Given the description of an element on the screen output the (x, y) to click on. 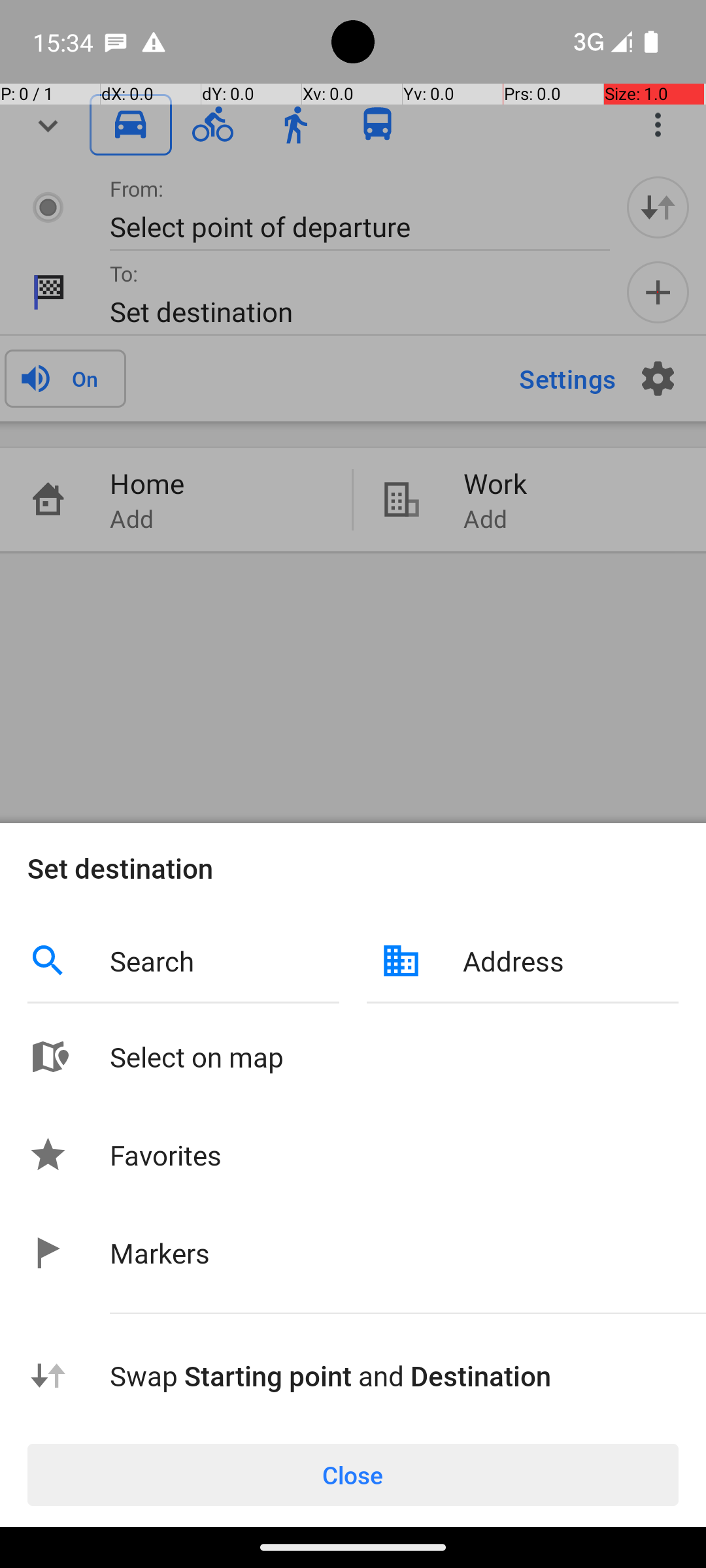
Close the dialog Element type: android.view.View (353, 440)
Set destination Element type: android.widget.TextView (353, 867)
Address Element type: android.widget.TextView (570, 960)
Select on map Element type: android.widget.TextView (393, 1056)
Swap Starting point and Destination Element type: android.widget.TextView (393, 1375)
Favorites Element type: android.widget.TextView (165, 1154)
Markers Element type: android.widget.TextView (159, 1252)
